Given the description of an element on the screen output the (x, y) to click on. 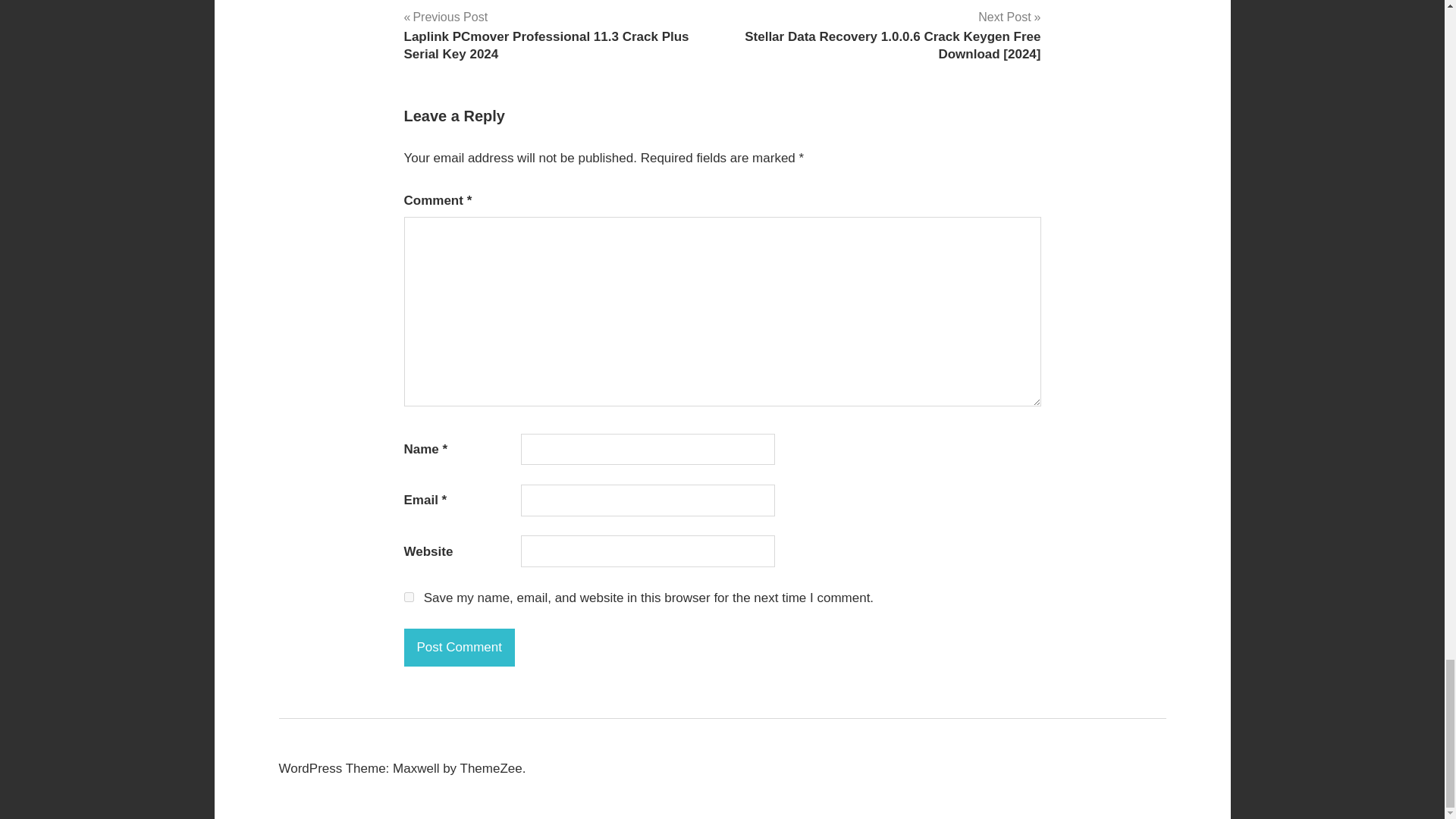
yes (408, 596)
Post Comment (458, 647)
Post Comment (458, 647)
